Given the description of an element on the screen output the (x, y) to click on. 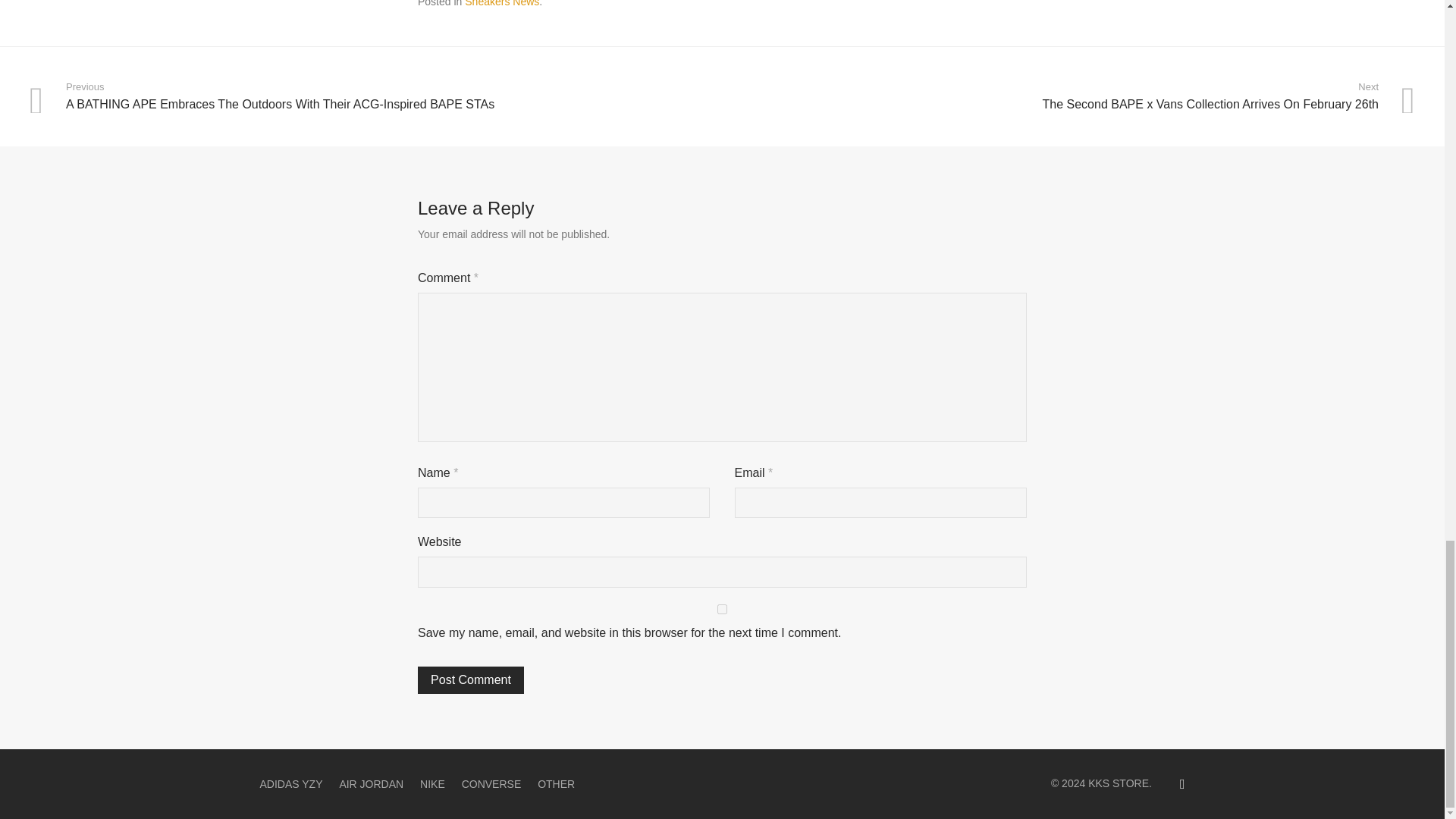
ADIDAS YZY (290, 784)
yes (721, 609)
AIR JORDAN (371, 784)
OTHER (556, 784)
Sneakers News (501, 3)
Post Comment (470, 679)
NIKE (432, 784)
Post Comment (470, 679)
CONVERSE (491, 784)
